Given the description of an element on the screen output the (x, y) to click on. 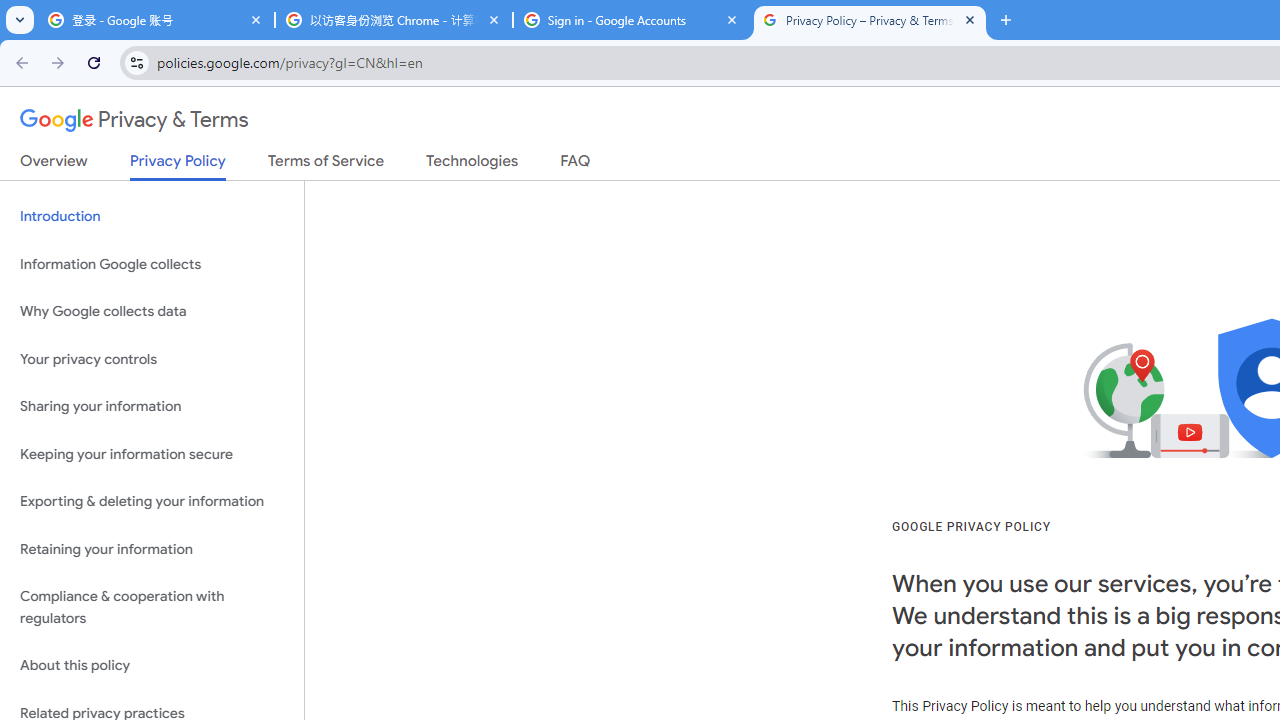
Your privacy controls (152, 358)
Exporting & deleting your information (152, 502)
Sign in - Google Accounts (632, 20)
Compliance & cooperation with regulators (152, 607)
Why Google collects data (152, 312)
